Given the description of an element on the screen output the (x, y) to click on. 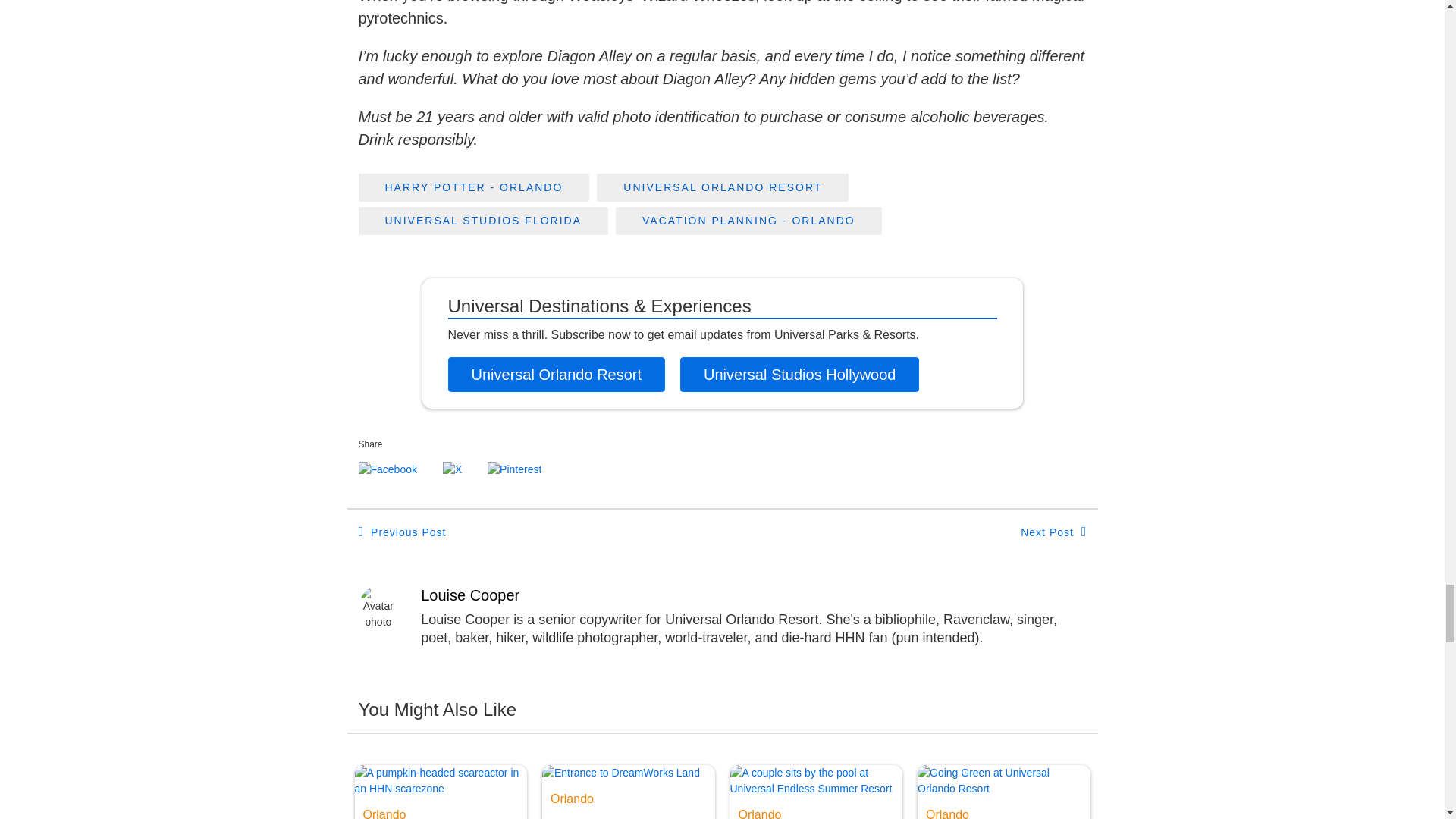
Share on Pinterest (514, 469)
Posts by Louise Cooper (753, 595)
Read Travel the World at Universal Orlando Resort (1003, 784)
Read Guide to DreamWorks Land at Universal Studios Florida (627, 776)
Share on Facebook (387, 469)
